Given the description of an element on the screen output the (x, y) to click on. 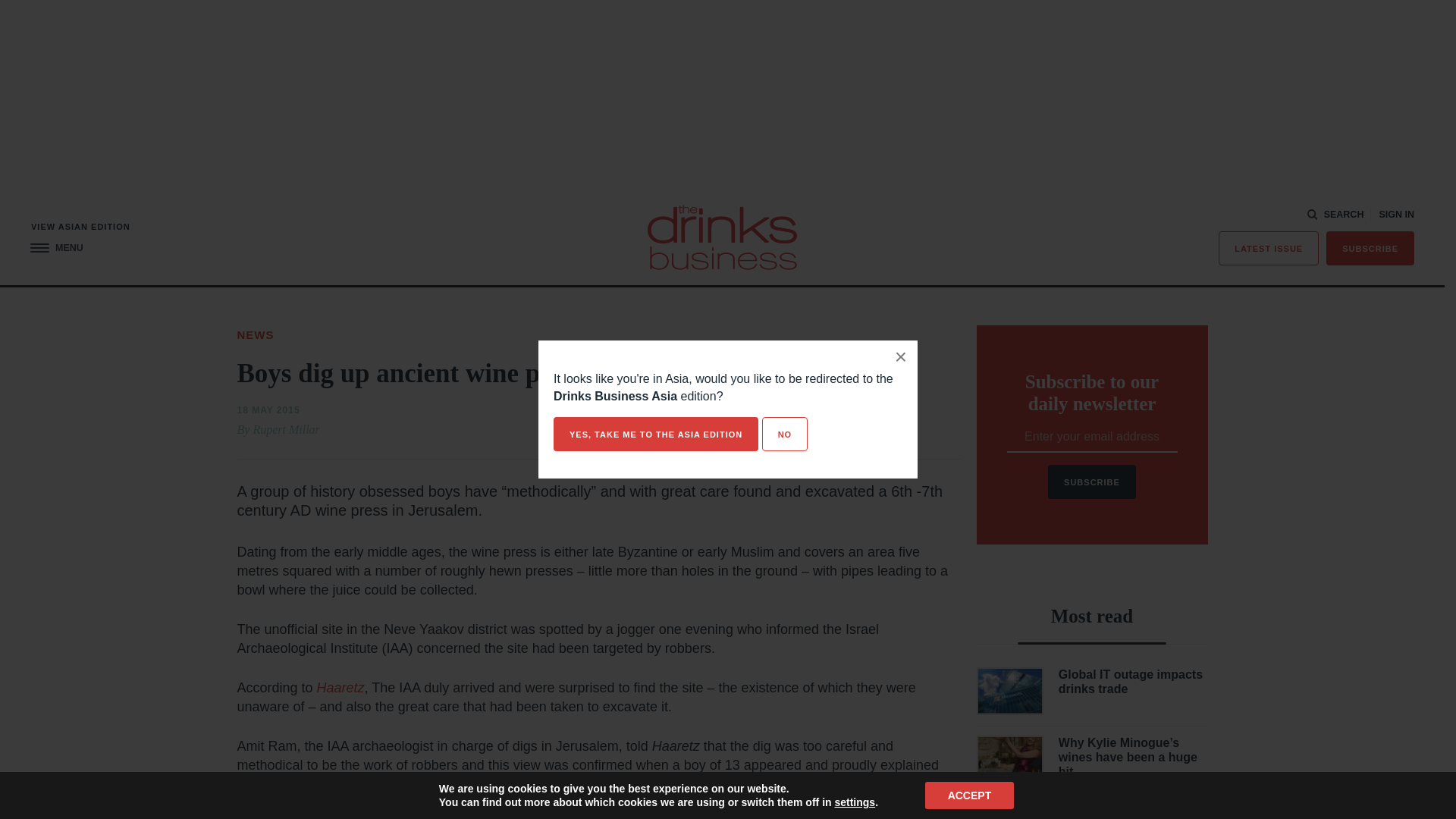
LATEST ISSUE (1268, 247)
MENU (56, 248)
SUBSCRIBE (1369, 247)
NO (784, 433)
VIEW ASIAN EDITION (80, 226)
YES, TAKE ME TO THE ASIA EDITION (655, 433)
SEARCH (1335, 214)
The Drinks Business (721, 237)
SIGN IN (1395, 214)
